Given the description of an element on the screen output the (x, y) to click on. 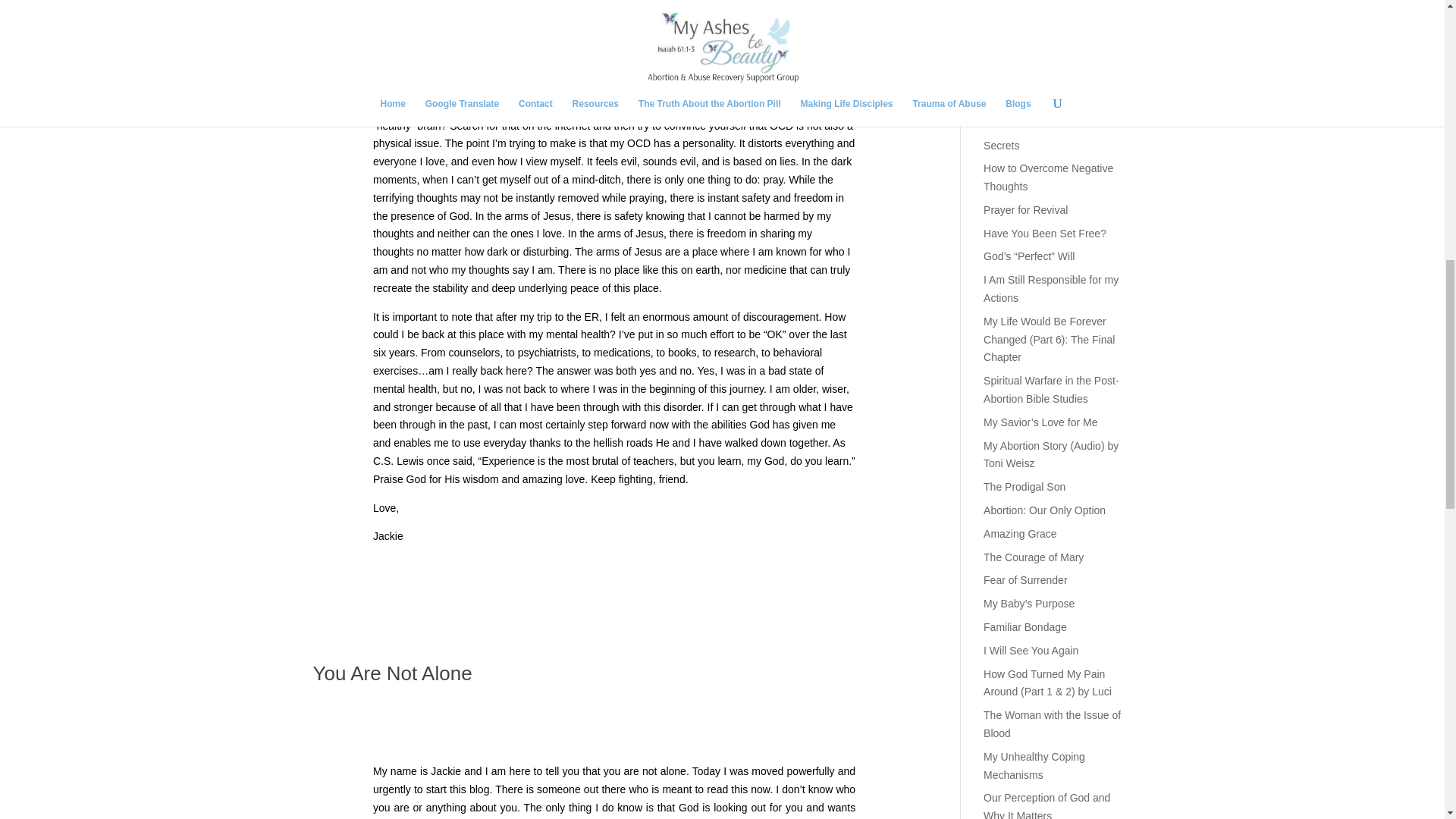
Unmet Expectations (1031, 80)
You Are Not Alone (392, 672)
Our Dashed Dreams (1032, 15)
